Given the description of an element on the screen output the (x, y) to click on. 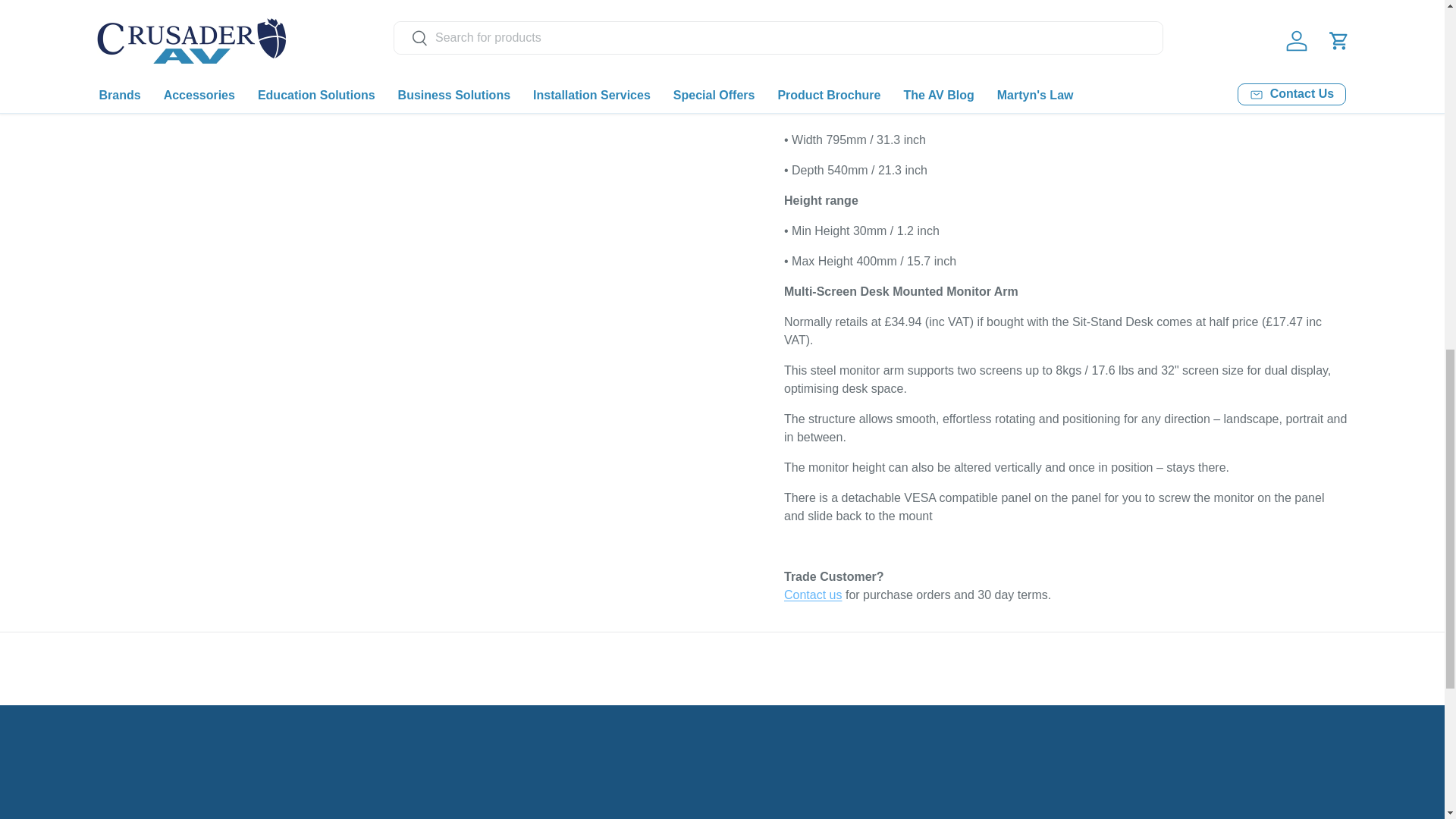
Contact us (812, 594)
